Given the description of an element on the screen output the (x, y) to click on. 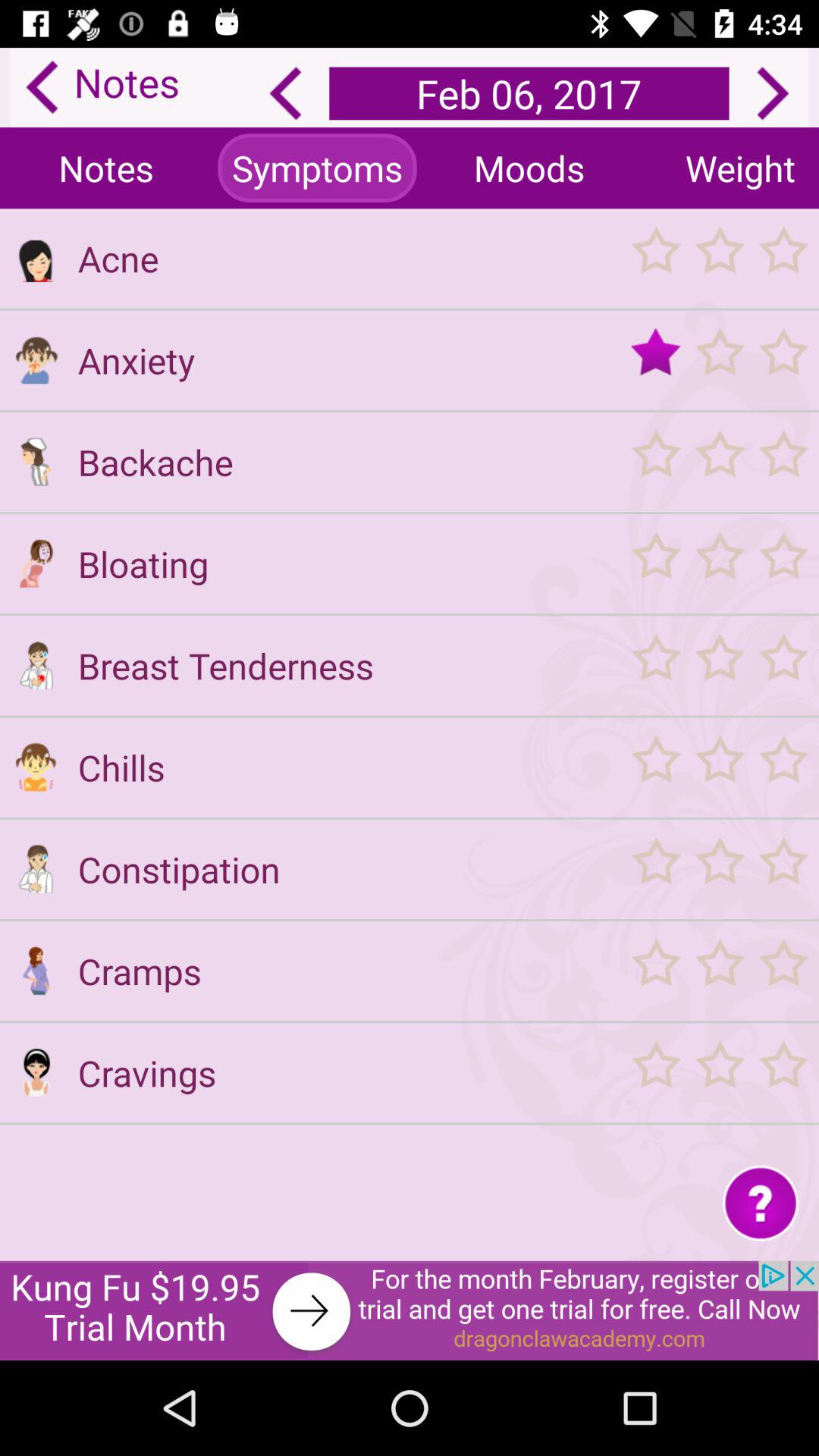
click to see symptoms for the chills (35, 767)
